Given the description of an element on the screen output the (x, y) to click on. 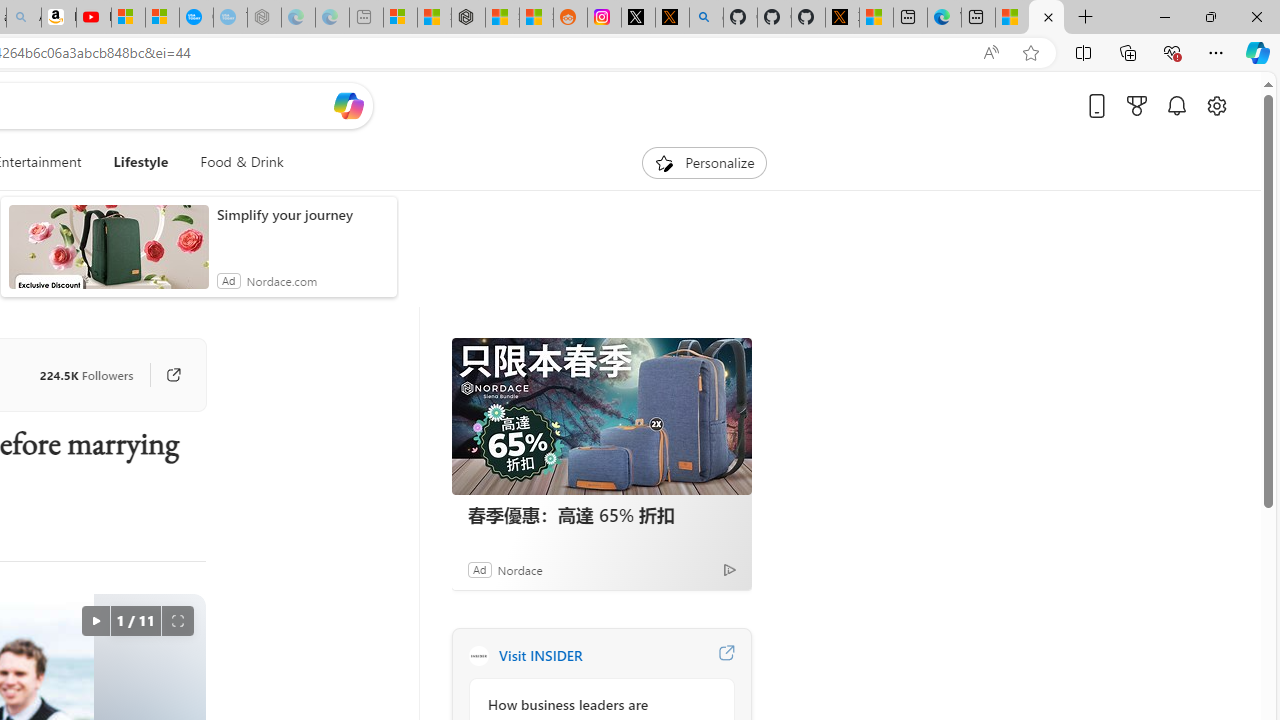
Day 1: Arriving in Yemen (surreal to be here) - YouTube (93, 17)
Ad Choice (729, 569)
help.x.com | 524: A timeout occurred (671, 17)
Close (1256, 16)
Full screen (177, 620)
Opinion: Op-Ed and Commentary - USA TODAY (196, 17)
Close tab (1048, 16)
Notifications (1176, 105)
Microsoft account | Microsoft Account Privacy Settings (400, 17)
INSIDER (478, 655)
Visit INSIDER website (726, 655)
github - Search (706, 17)
